Given the description of an element on the screen output the (x, y) to click on. 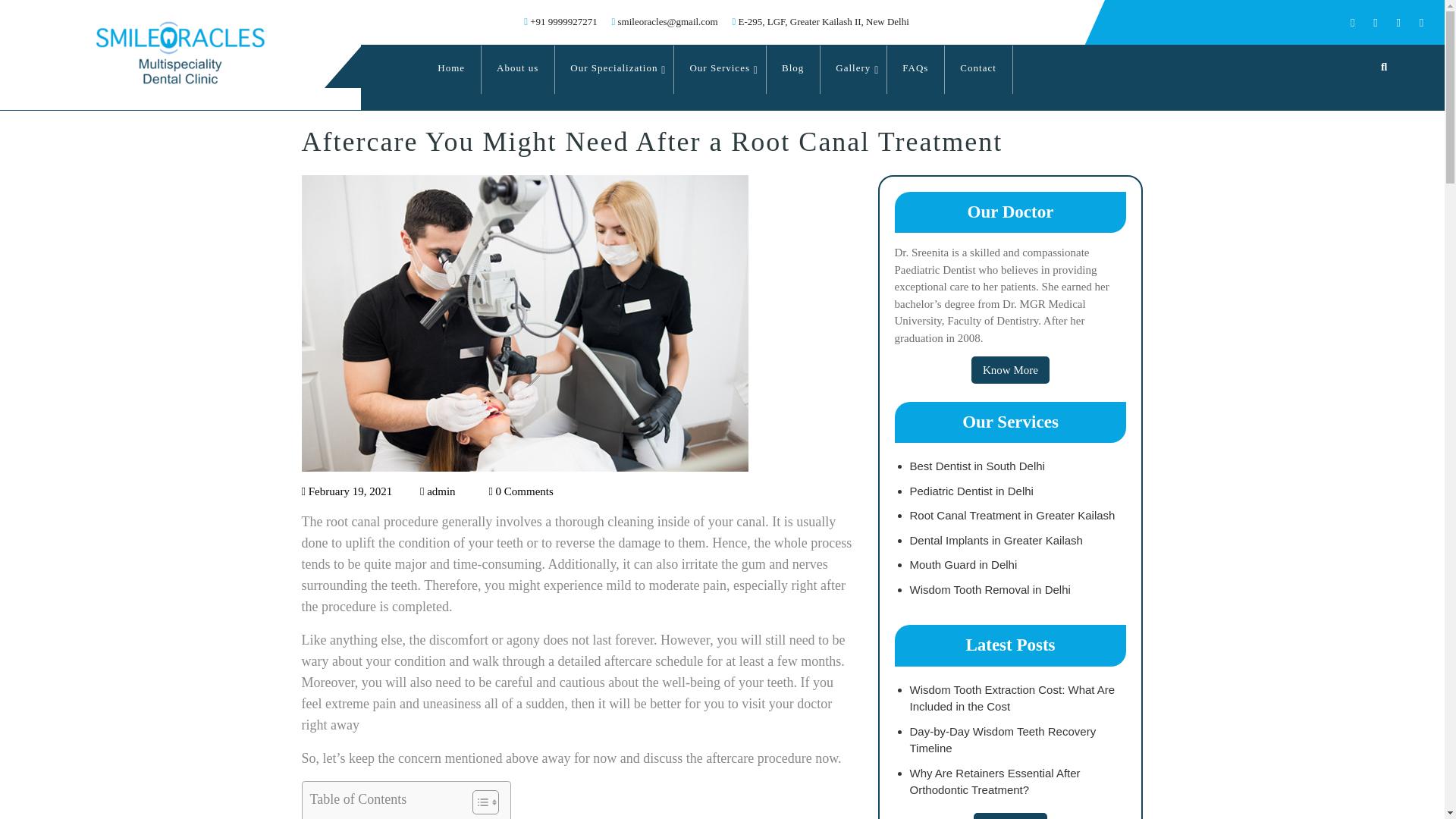
Our Specialization (614, 70)
Home (451, 70)
1.Consider Your Foods Carefully (385, 816)
Our Services (720, 70)
About us (517, 70)
E-295, LGF, Greater Kailash II, New Delhi (820, 21)
